Given the description of an element on the screen output the (x, y) to click on. 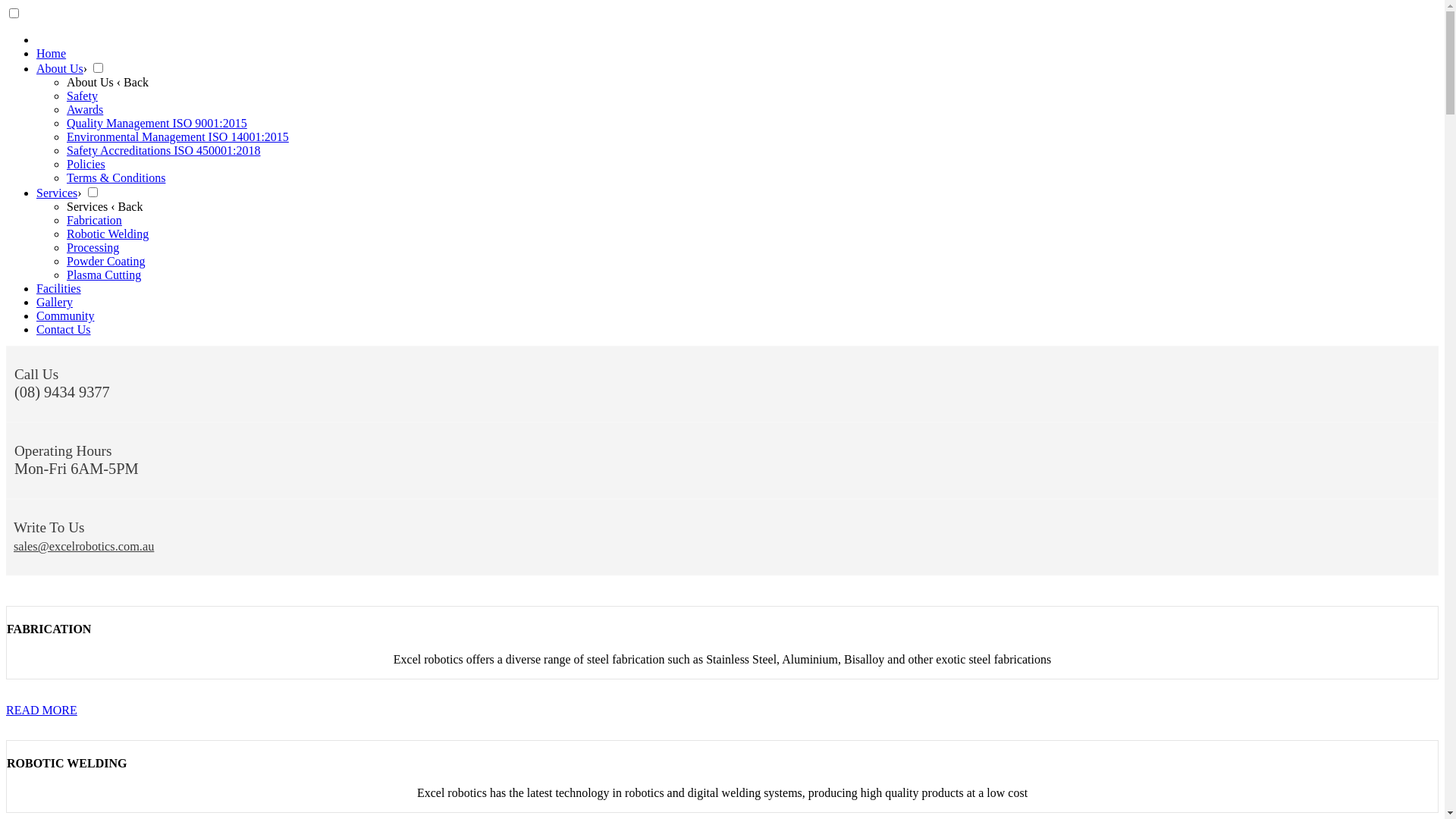
Powder Coating Element type: text (105, 260)
Policies Element type: text (85, 163)
Safety Accreditations ISO 450001:2018 Element type: text (163, 150)
Processing Element type: text (92, 247)
Safety Element type: text (81, 95)
Quality Management ISO 9001:2015 Element type: text (156, 122)
Gallery Element type: text (54, 301)
About Us Element type: text (59, 68)
Environmental Management ISO 14001:2015 Element type: text (177, 136)
Robotic Welding Element type: text (107, 233)
Services Element type: text (56, 192)
Awards Element type: text (84, 109)
Home Element type: text (50, 53)
Contact Us Element type: text (63, 329)
Plasma Cutting Element type: text (103, 274)
Facilities Element type: text (58, 288)
Community Element type: text (65, 315)
Fabrication Element type: text (94, 219)
READ MORE Element type: text (41, 709)
Terms & Conditions Element type: text (115, 177)
sales@excelrobotics.com.au Element type: text (83, 546)
